Given the description of an element on the screen output the (x, y) to click on. 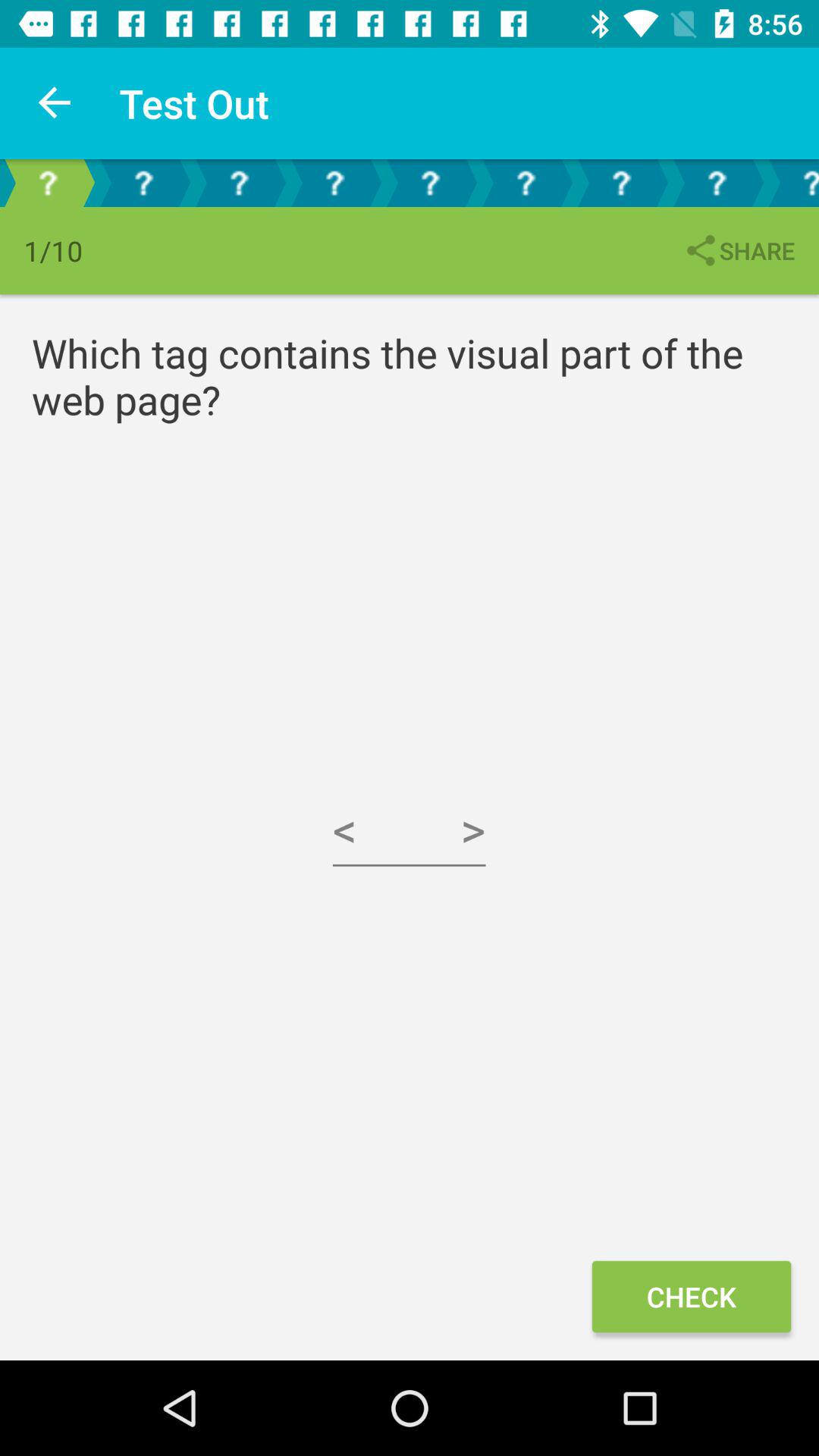
question mark (791, 183)
